Given the description of an element on the screen output the (x, y) to click on. 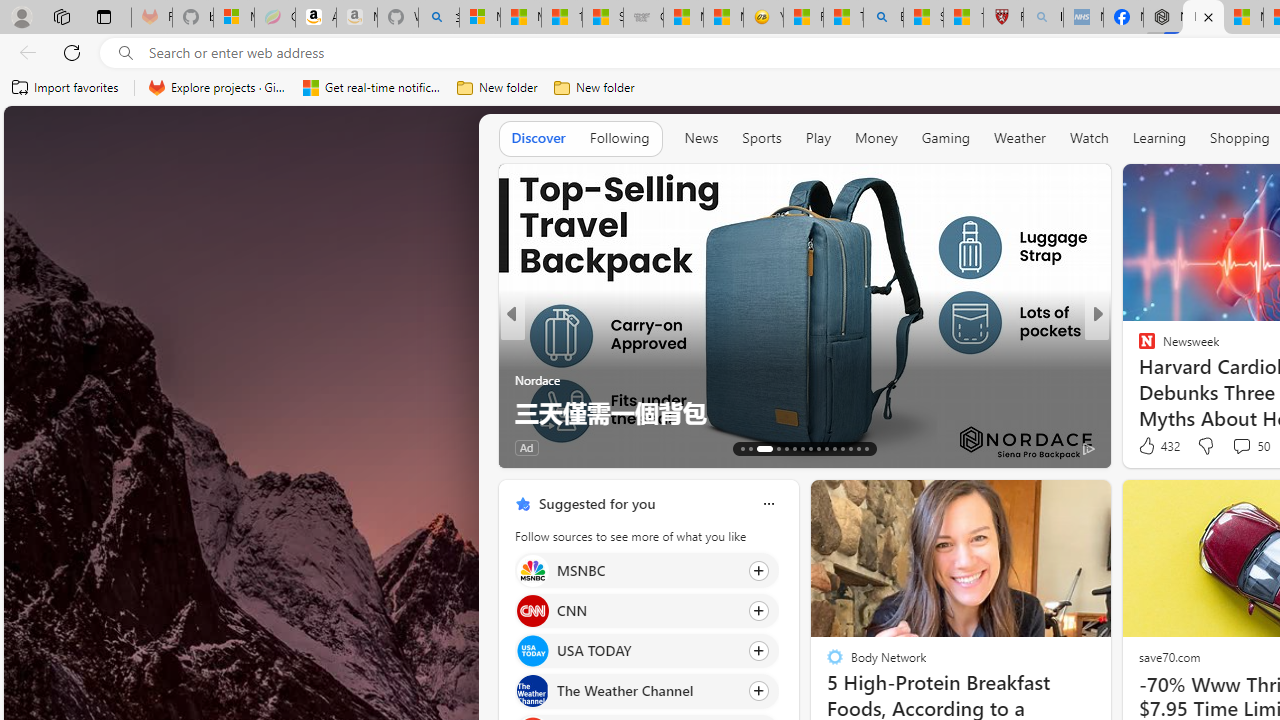
Weather (1019, 138)
328 Like (1151, 447)
AutomationID: tab-75 (825, 448)
Play (818, 138)
View comments 14 Comment (1234, 447)
Learning (1159, 137)
AutomationID: tab-80 (857, 448)
Play (817, 137)
Sports (761, 137)
